Given the description of an element on the screen output the (x, y) to click on. 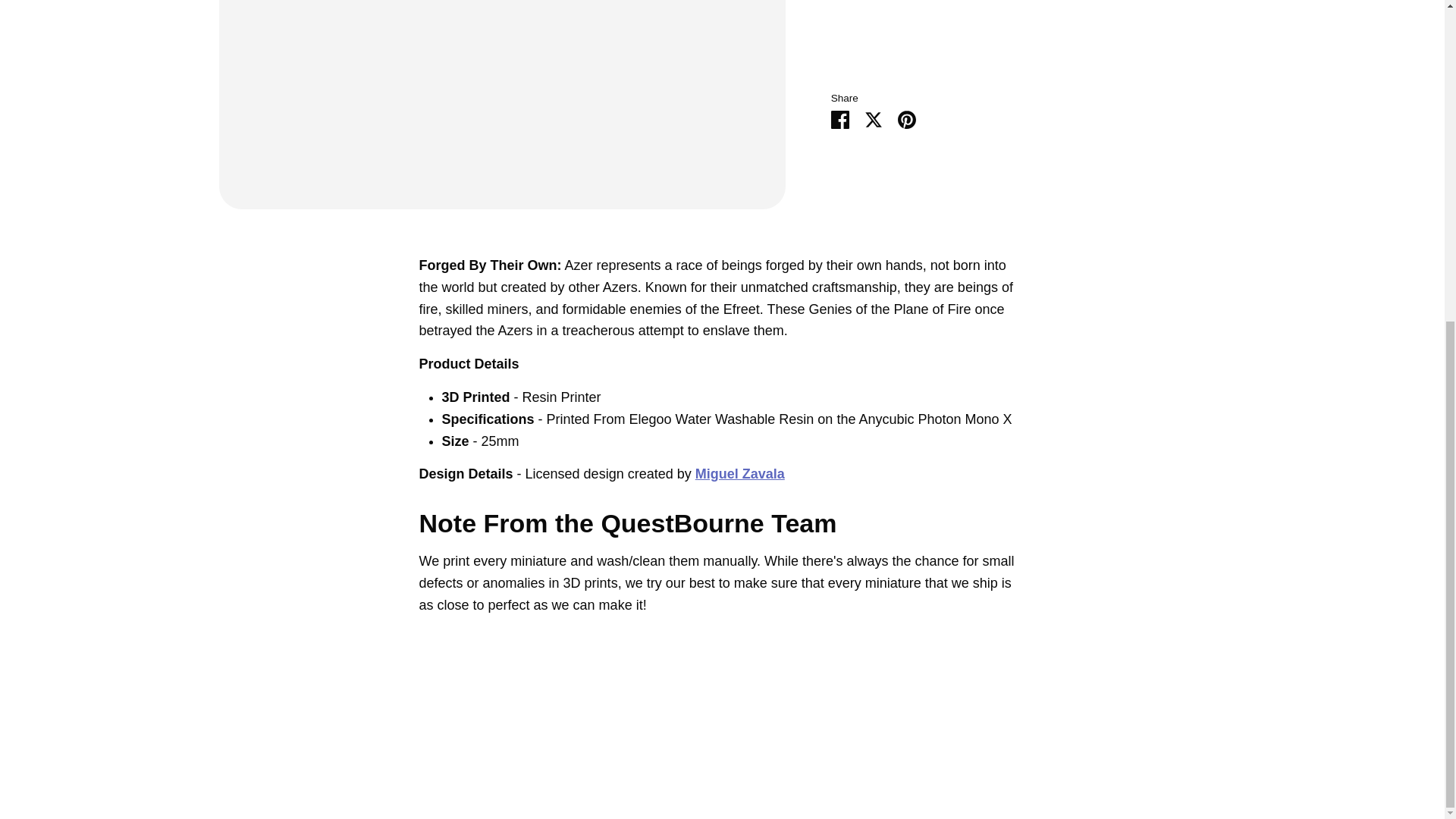
Mastercard (1190, 244)
Discover (1100, 244)
Meta Pay (1130, 244)
American Express (1008, 244)
Google Pay (1160, 244)
Apple Pay (1039, 244)
PayPal (1221, 244)
Diners Club (1069, 244)
